Given the description of an element on the screen output the (x, y) to click on. 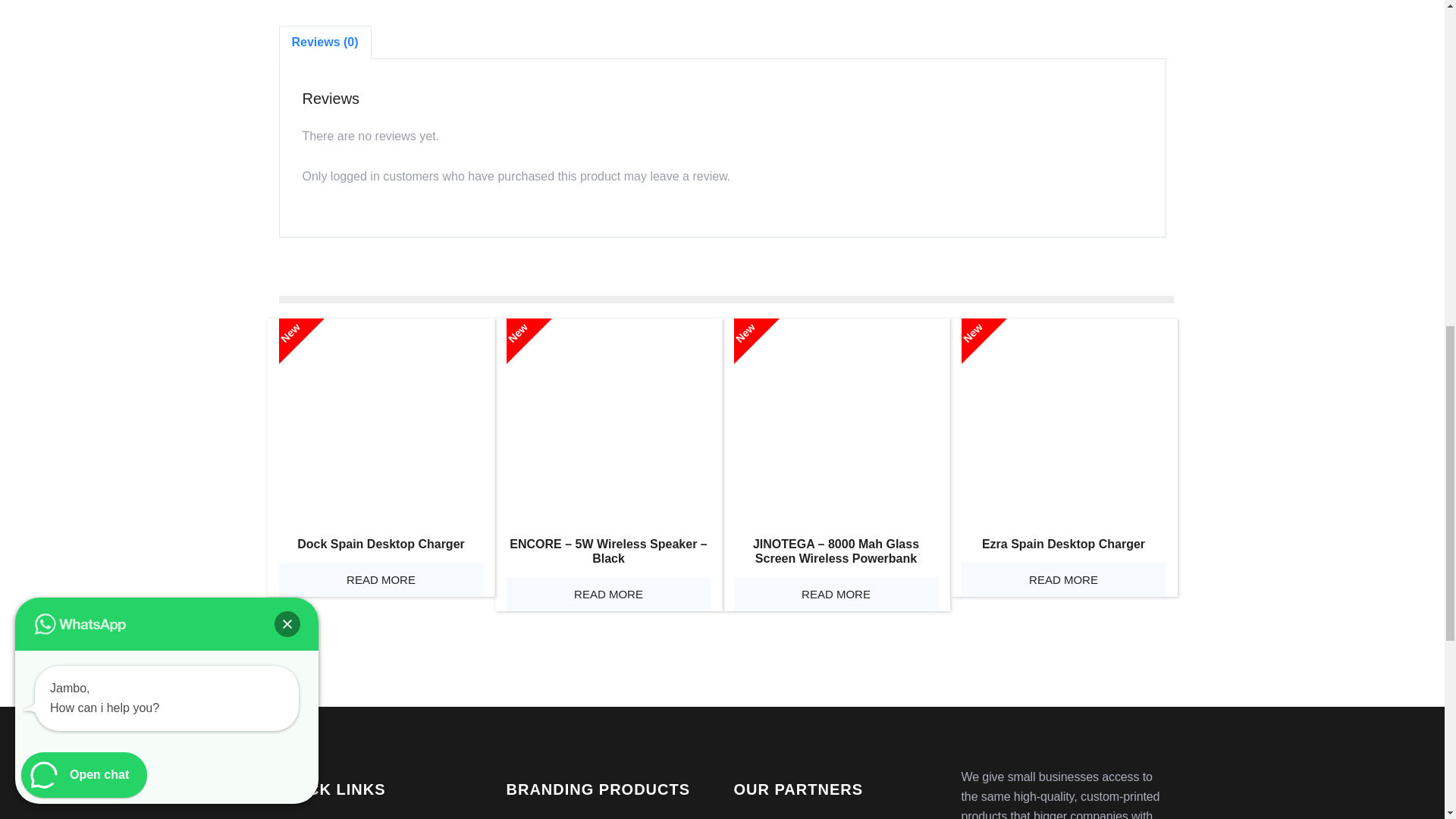
Dock Spain Desktop Charger (381, 420)
ENCORE - 5W Wireless Speaker - Black (608, 420)
JINOTEGA - 8000 Mah Glass Screen Wireless Powerbank (836, 420)
Ezra Spain Desktop Charger (1063, 420)
